Given the description of an element on the screen output the (x, y) to click on. 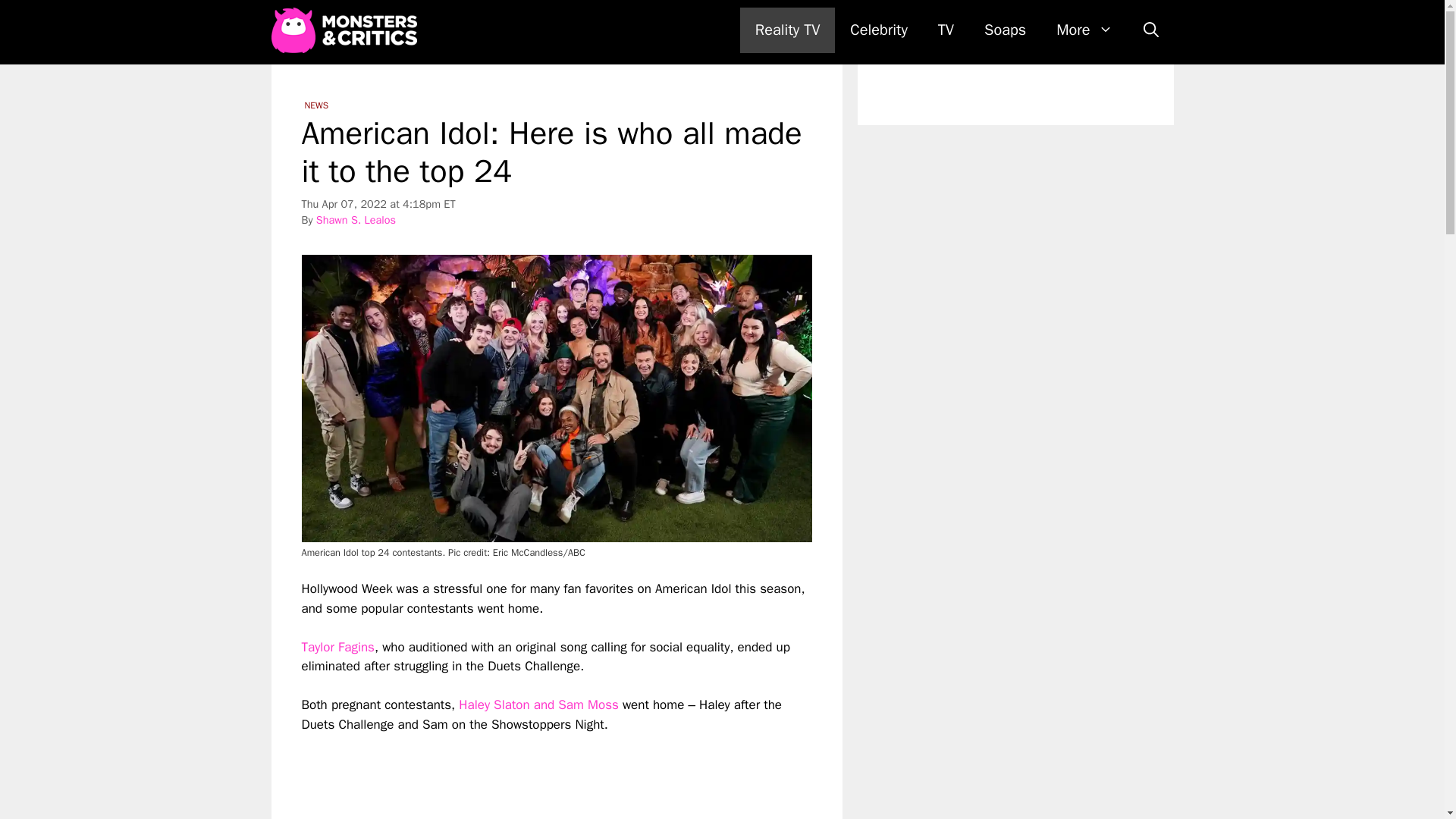
YouTube video player (513, 776)
Shawn S. Lealos (355, 219)
View all posts by Shawn S. Lealos (355, 219)
Reality TV (787, 30)
TV (946, 30)
Monsters and Critics (347, 30)
Soaps (1005, 30)
Haley Slaton and Sam Moss (538, 704)
More (1083, 30)
Taylor Fagins (337, 647)
